Given the description of an element on the screen output the (x, y) to click on. 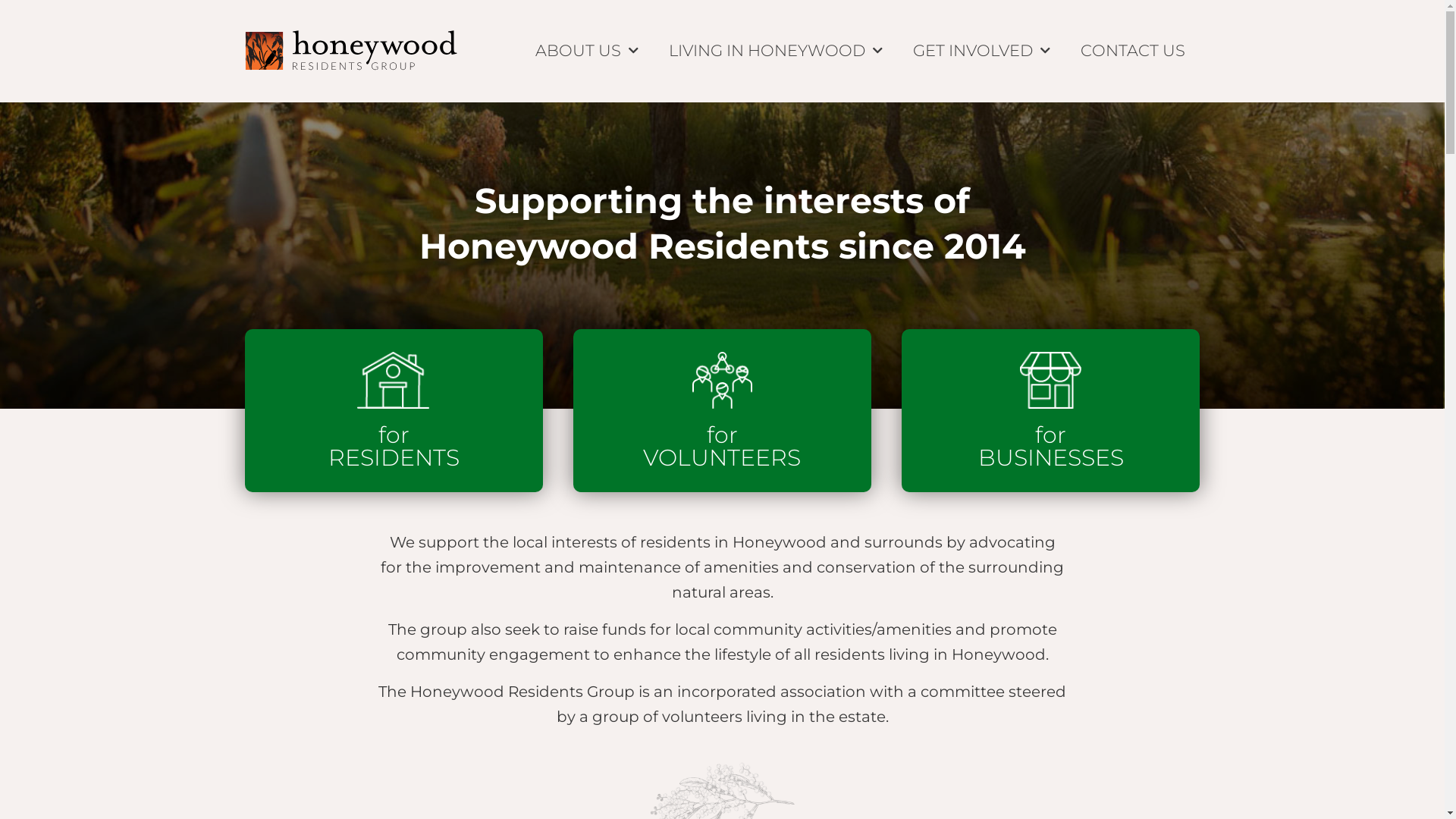
ABOUT US Element type: text (586, 50)
for
BUSINESSES Element type: text (1050, 445)
CONTACT US Element type: text (1131, 50)
LIVING IN HONEYWOOD Element type: text (775, 50)
for
RESIDENTS Element type: text (393, 445)
GET INVOLVED Element type: text (981, 50)
for
VOLUNTEERS Element type: text (721, 445)
